Given the description of an element on the screen output the (x, y) to click on. 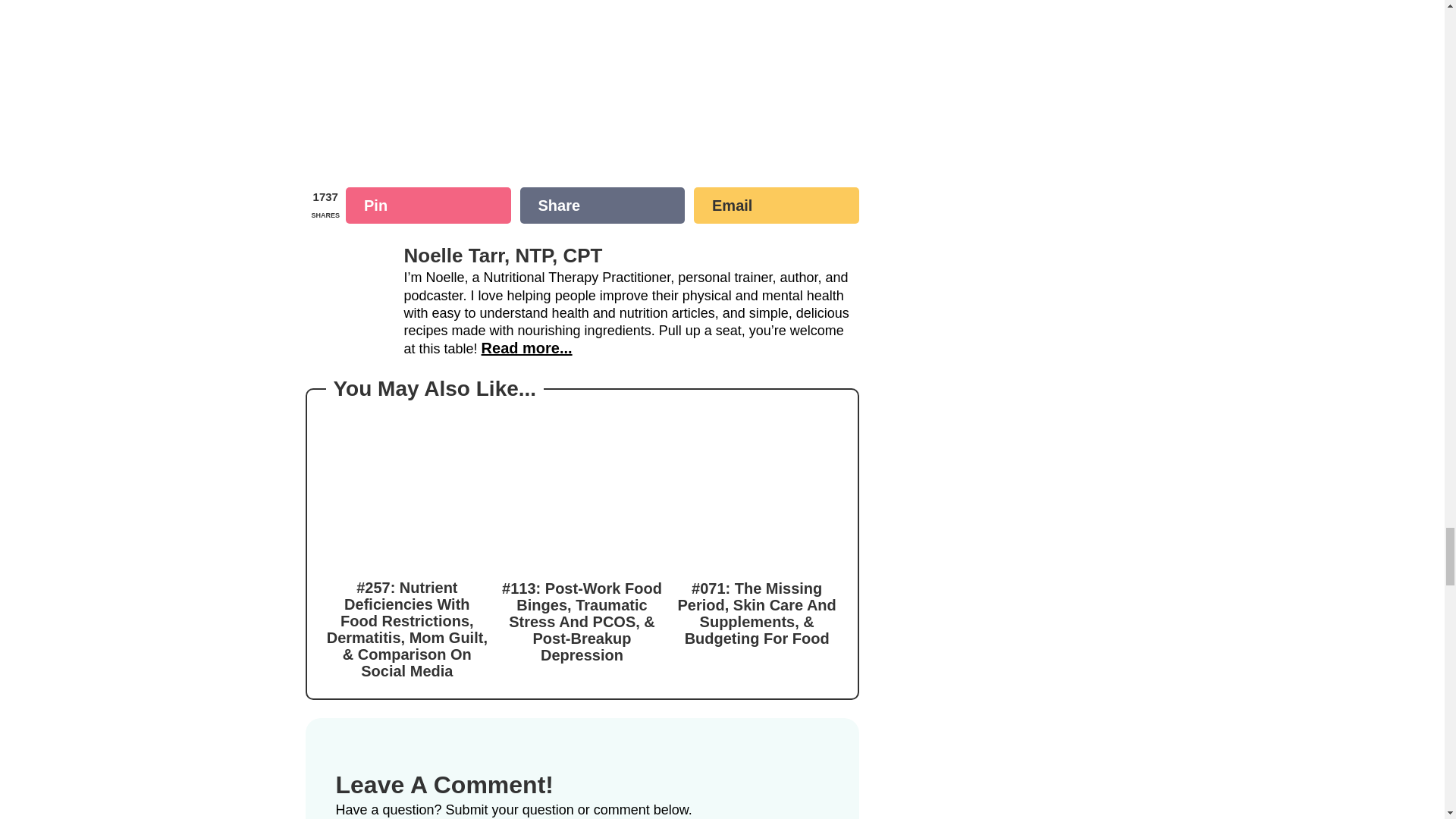
Save to Pinterest (428, 205)
Send over email (776, 205)
Share on Facebook (602, 205)
